Given the description of an element on the screen output the (x, y) to click on. 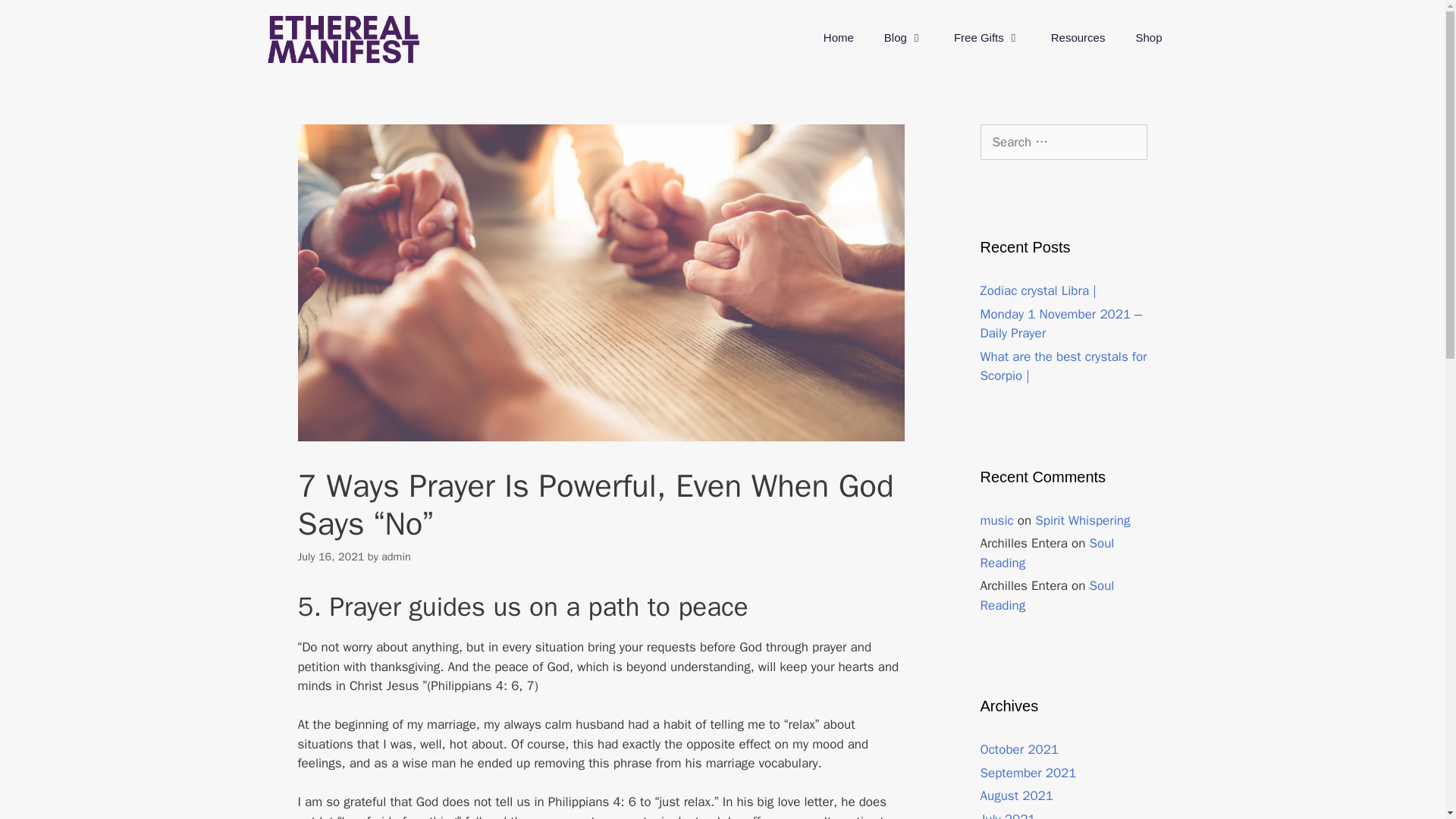
Soul Reading (1046, 595)
Shop (1147, 37)
Ethereal Manifest (342, 39)
Soul Reading (1046, 552)
Blog (904, 37)
Resources (1078, 37)
October 2021 (1018, 749)
admin (395, 555)
September 2021 (1027, 772)
music (996, 520)
Ethereal Manifest (342, 37)
July 2021 (1007, 815)
August 2021 (1015, 795)
Search for: (1063, 142)
Spirit Whispering (1082, 520)
